Given the description of an element on the screen output the (x, y) to click on. 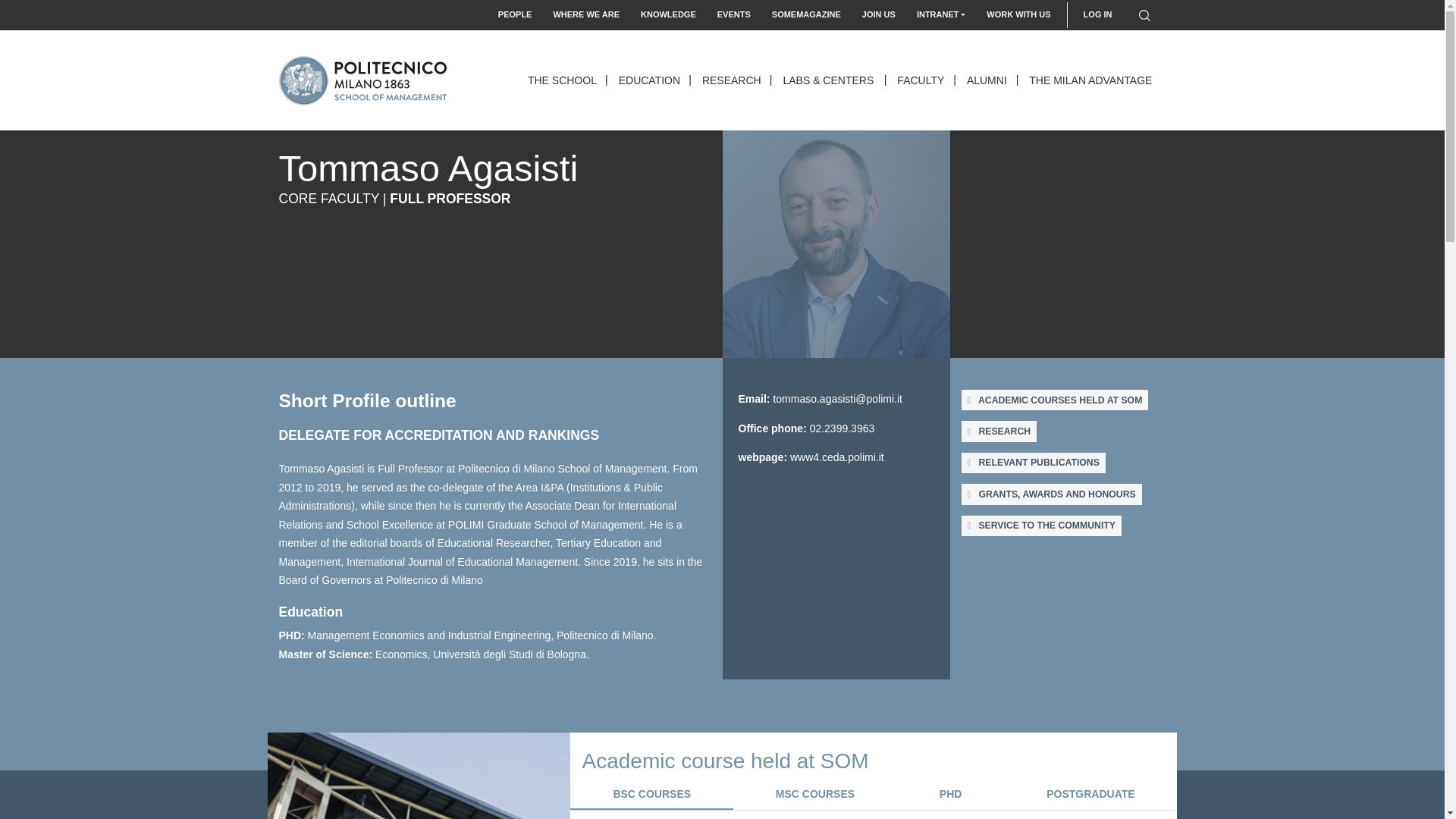
Work with us (1018, 14)
Knowledge (668, 14)
FACULTY (921, 80)
PEOPLE (515, 14)
JOIN US (878, 14)
Where we are (585, 14)
Education (649, 80)
THE MILAN ADVANTAGE (1091, 80)
EVENTS (733, 14)
WORK WITH US (1018, 14)
